Given the description of an element on the screen output the (x, y) to click on. 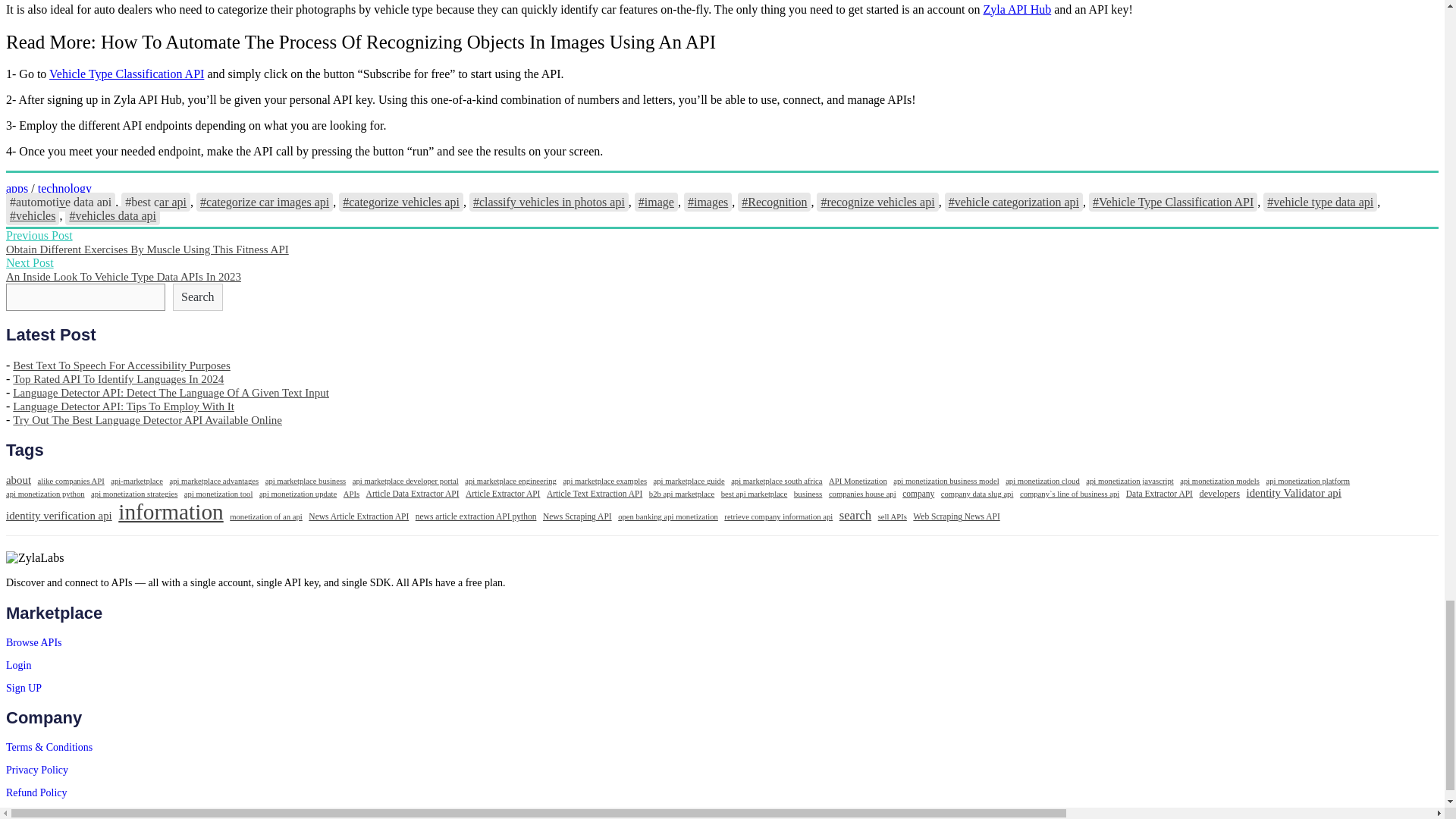
technology (64, 187)
Previous Post (38, 235)
apps (16, 187)
Next Post (29, 262)
Search (197, 297)
Zyla API Hub (1016, 9)
Obtain Different Exercises By Muscle Using This Fitness API (146, 249)
An Inside Look To Vehicle Type Data APIs In 2023 (123, 276)
Vehicle Type Classification API (126, 73)
Best Text To Speech For Accessibility Purposes (121, 365)
